Given the description of an element on the screen output the (x, y) to click on. 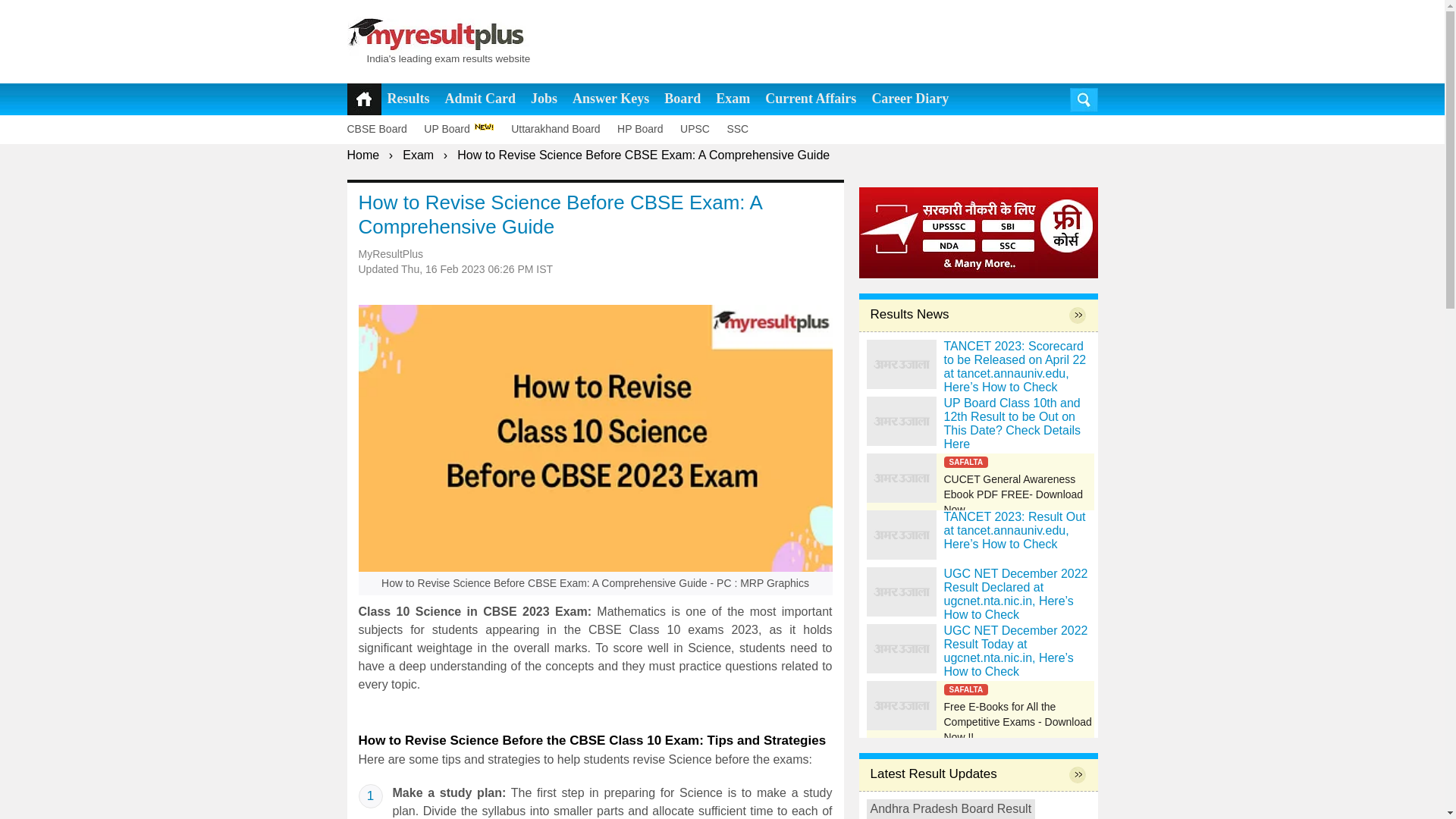
UPSC (701, 128)
Free E-Books for All the Competitive Exams - Download Now !! (979, 705)
SSC (743, 128)
Admit Card (480, 98)
Exam (418, 155)
Results (407, 98)
Exam (732, 98)
CUCET General Awareness Ebook PDF FREE- Download Now (979, 478)
HP Board (647, 128)
UP Board (464, 128)
Career Diary (909, 98)
Home (363, 155)
Board (682, 98)
CBSE Board (383, 128)
